Given the description of an element on the screen output the (x, y) to click on. 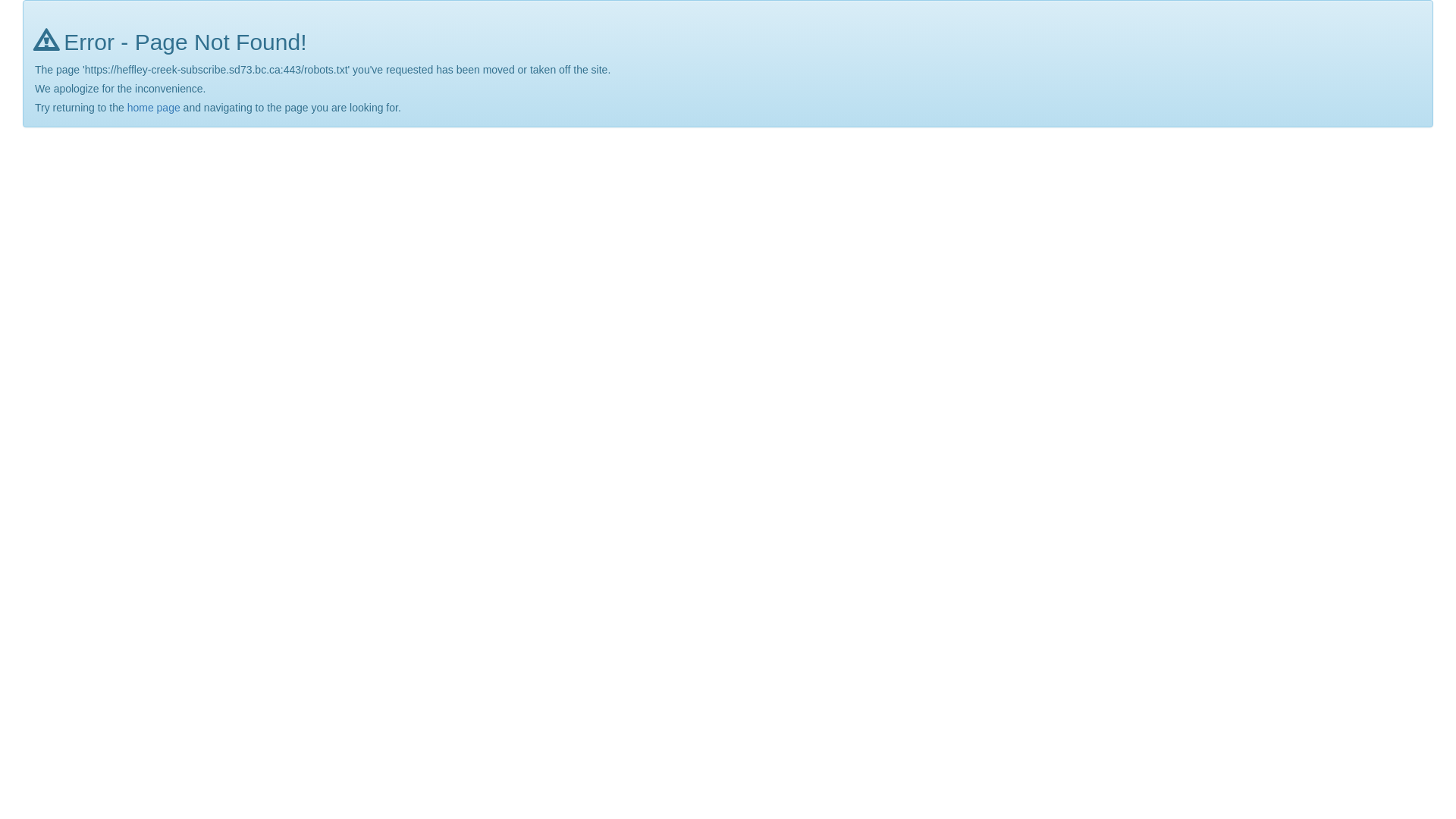
home page Element type: text (153, 107)
